Given the description of an element on the screen output the (x, y) to click on. 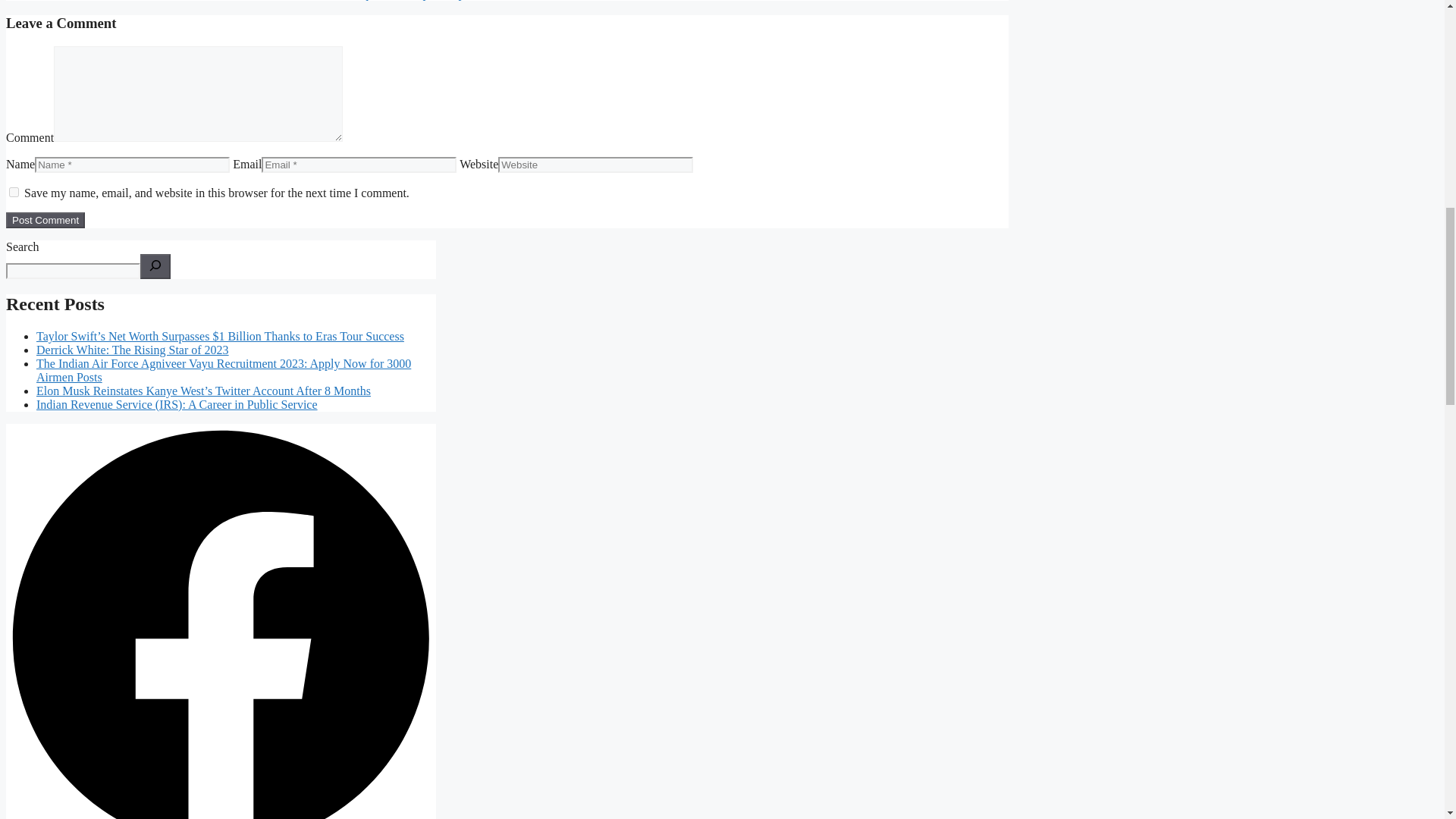
yes (13, 192)
Post Comment (44, 220)
Derrick White: The Rising Star of 2023 (132, 349)
Post Comment (44, 220)
